Given the description of an element on the screen output the (x, y) to click on. 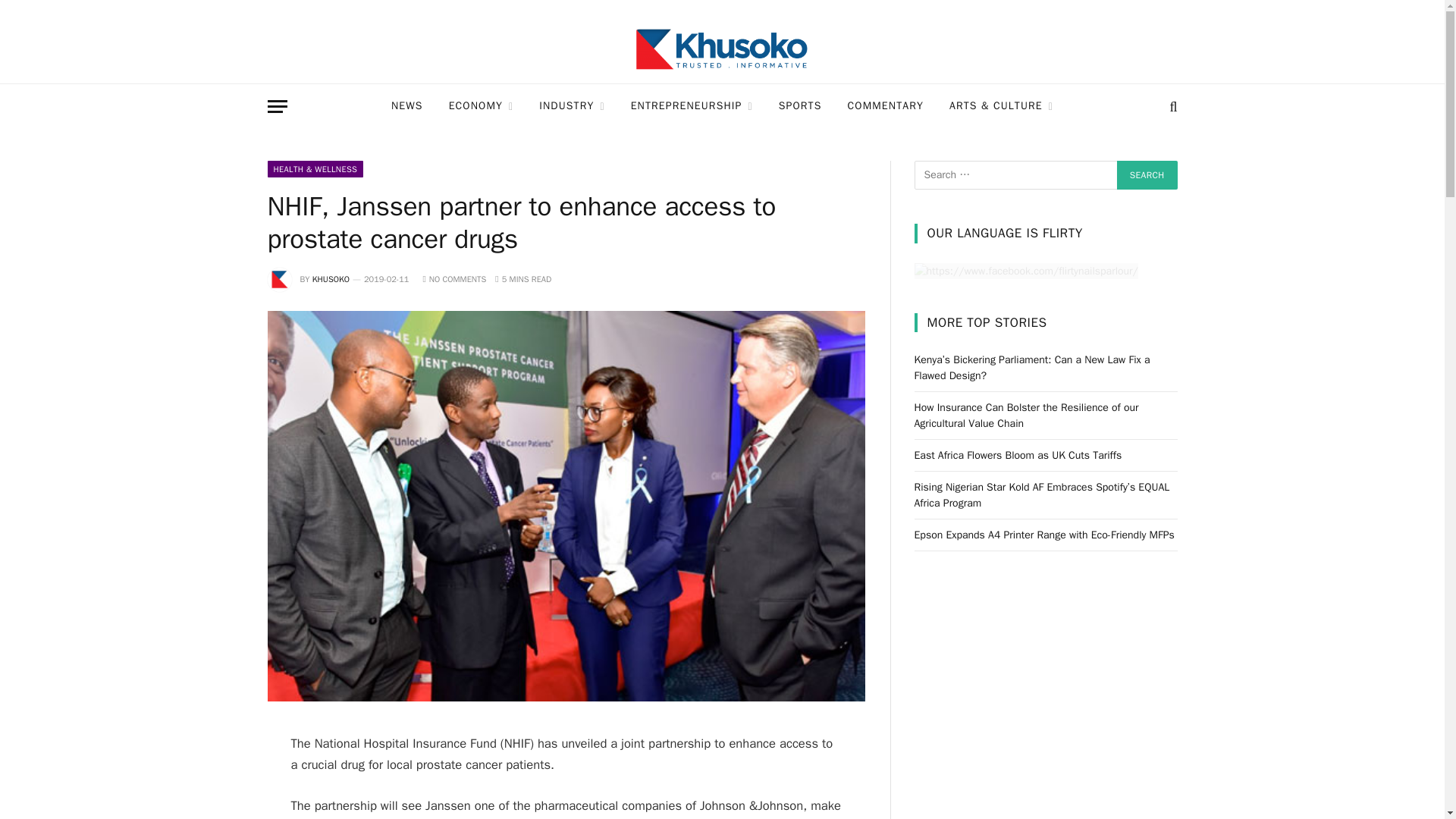
Posts by Khusoko (331, 278)
INDUSTRY (571, 106)
Our Language is Flirty (1026, 270)
ECONOMY (481, 106)
KHUSOKO (331, 278)
NO COMMENTS (454, 278)
Search (1146, 174)
SPORTS (799, 106)
ENTREPRENEURSHIP (691, 106)
